Given the description of an element on the screen output the (x, y) to click on. 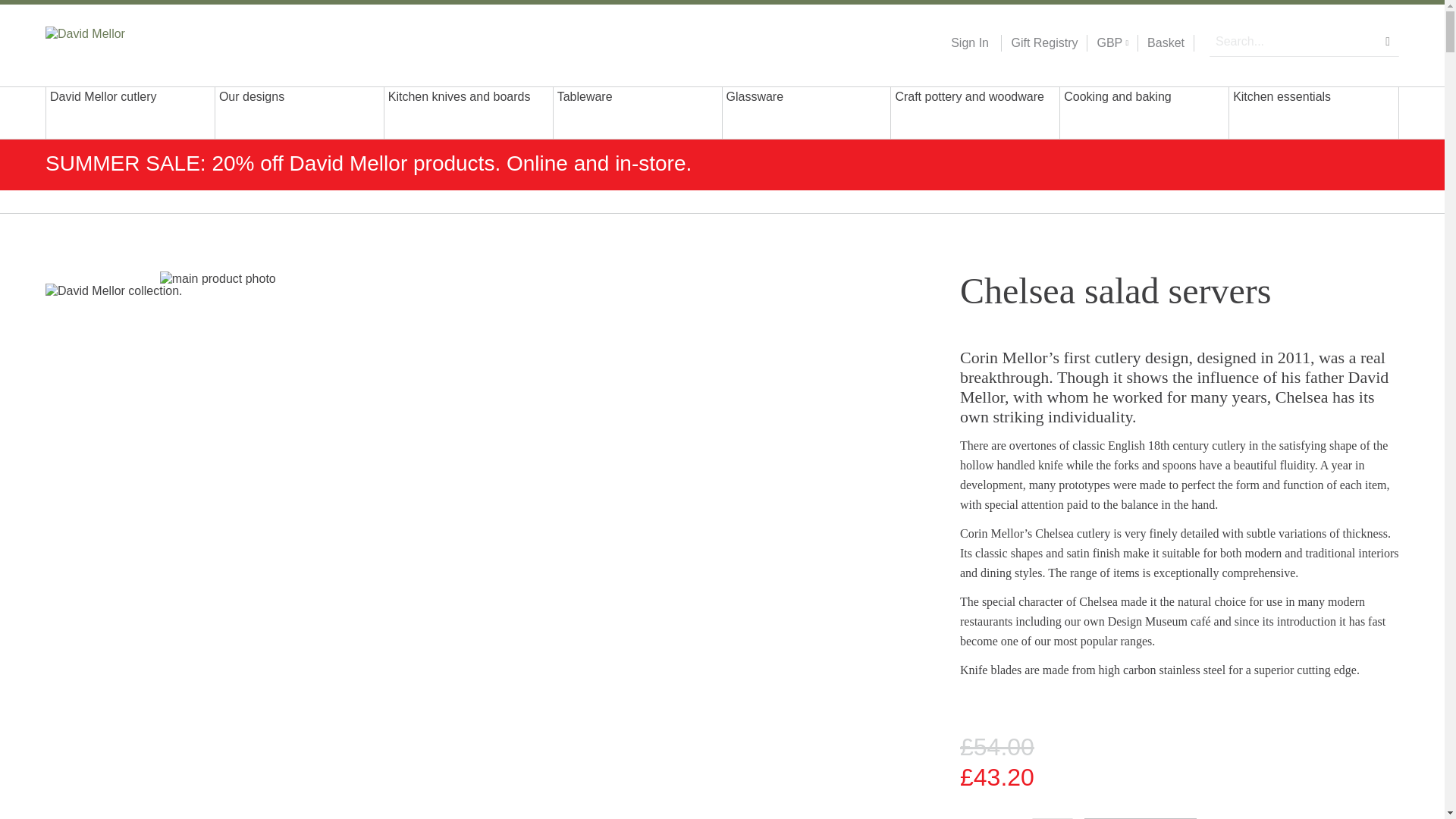
Basket (1166, 43)
Search (1388, 41)
Sign In (969, 43)
Qty (1052, 818)
David Mellor cutlery (130, 112)
Search (1388, 41)
Gift Registry (1039, 43)
David Mellor (143, 42)
1 (1052, 818)
